Given the description of an element on the screen output the (x, y) to click on. 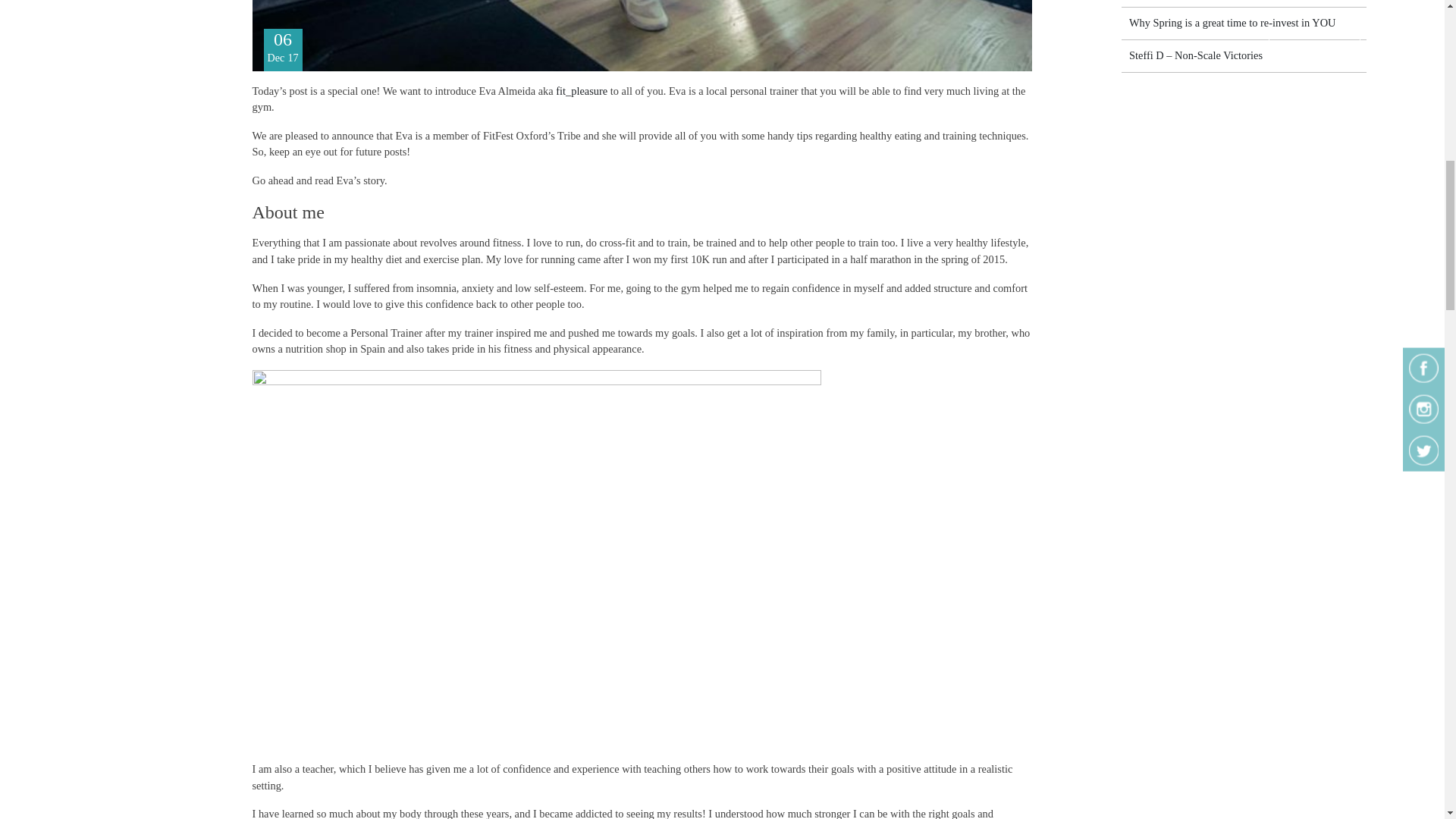
Why Spring is a great time to re-invest in YOU (1232, 22)
